Given the description of an element on the screen output the (x, y) to click on. 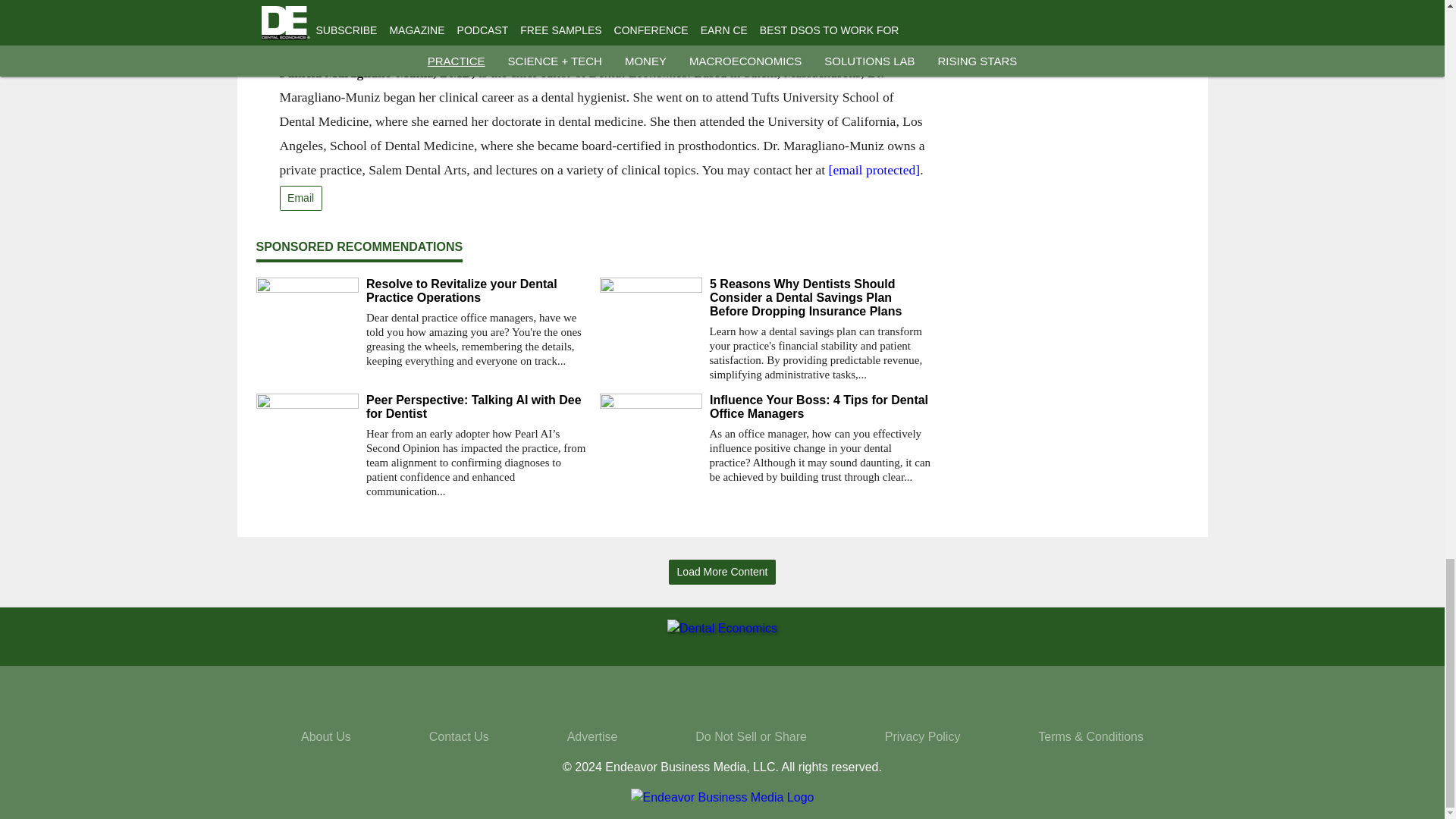
Influence Your Boss: 4 Tips for Dental Office Managers (820, 406)
Email (300, 197)
Peer Perspective: Talking AI with Dee for Dentist (476, 406)
Resolve to Revitalize your Dental Practice Operations (476, 290)
